Given the description of an element on the screen output the (x, y) to click on. 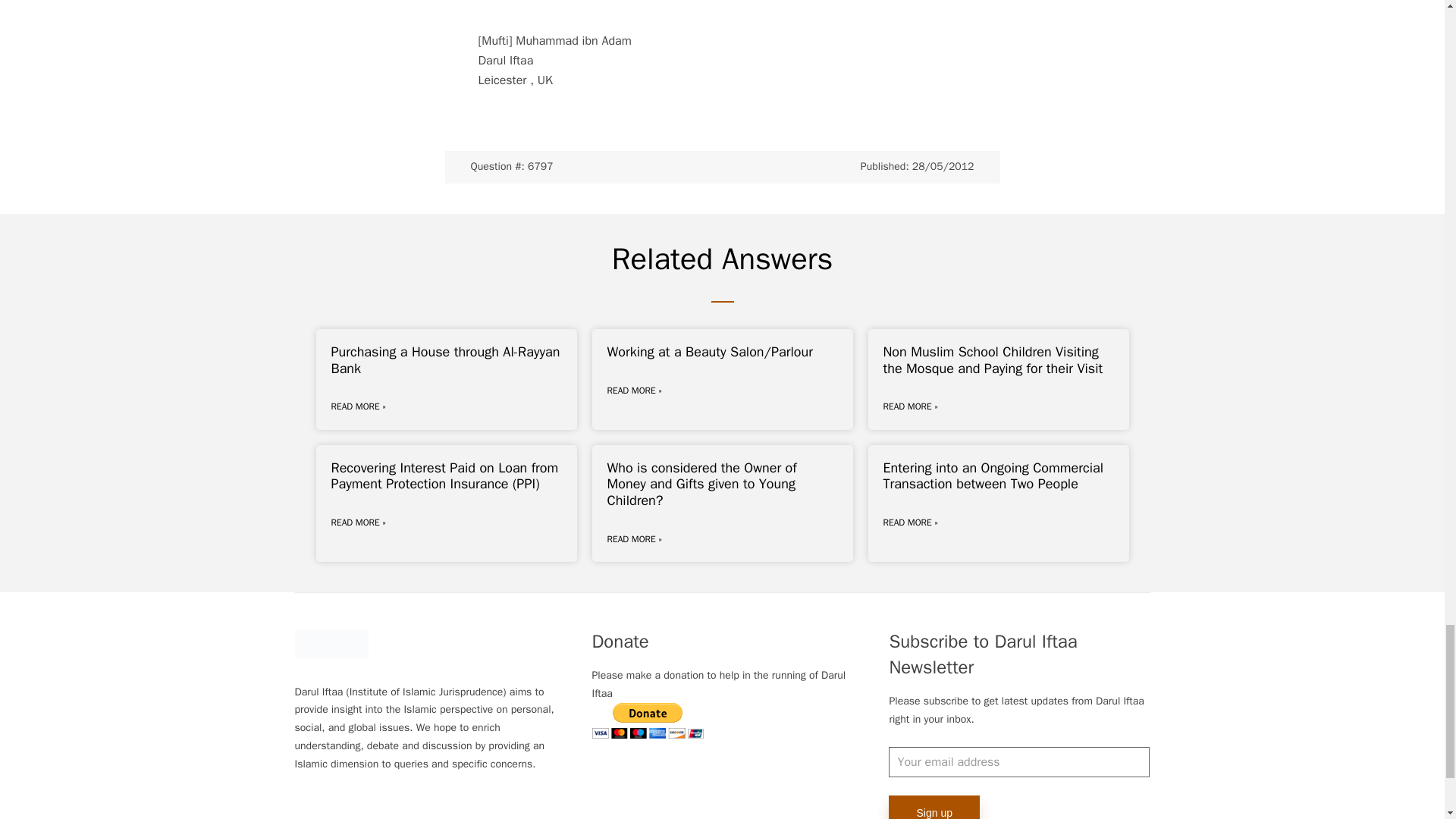
Sign up (933, 807)
Purchasing a House through Al-Rayyan Bank (444, 359)
